Given the description of an element on the screen output the (x, y) to click on. 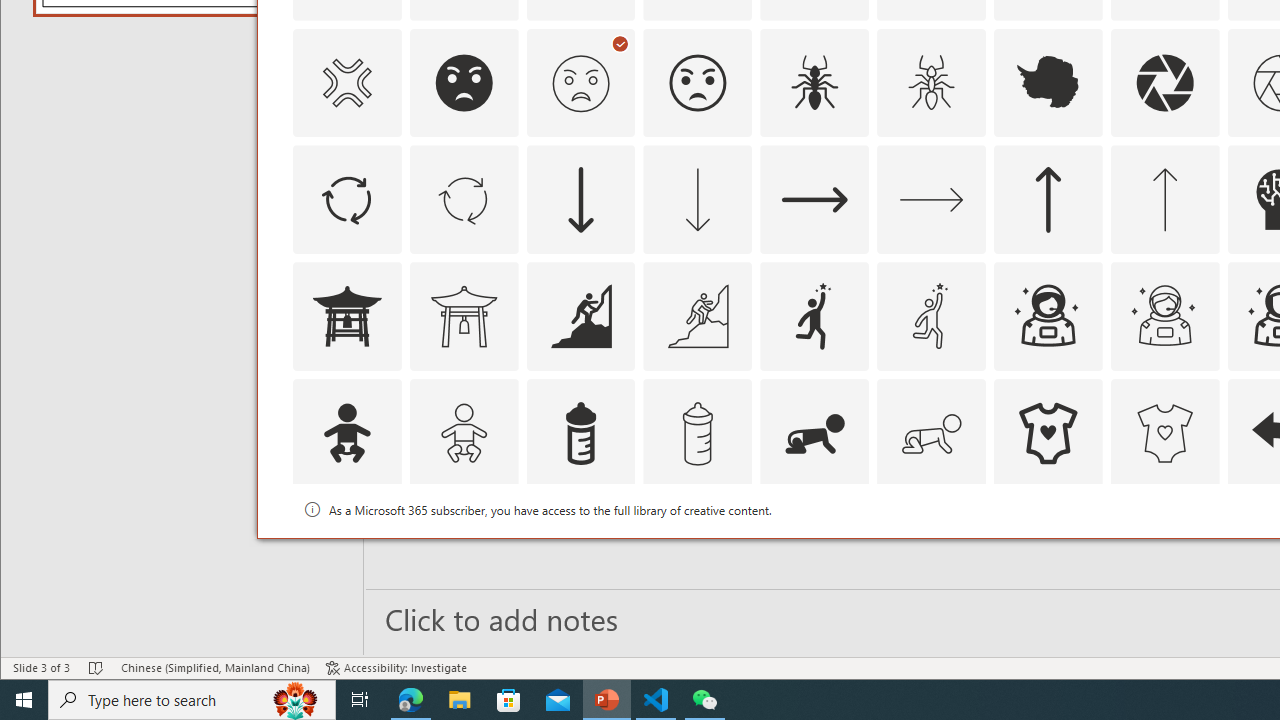
Thumbnail (1204, 511)
AutomationID: Icons_Ant_M (931, 82)
AutomationID: Icons_Aspiration (580, 316)
AutomationID: Icons_Badge5 (1164, 550)
AutomationID: Icons_Aspiration_M (697, 316)
AutomationID: Icons_AsianTemple1 (346, 316)
AutomationID: Icons_AstronautFemale_M (1164, 316)
Microsoft Edge - 1 running window (411, 699)
